Given the description of an element on the screen output the (x, y) to click on. 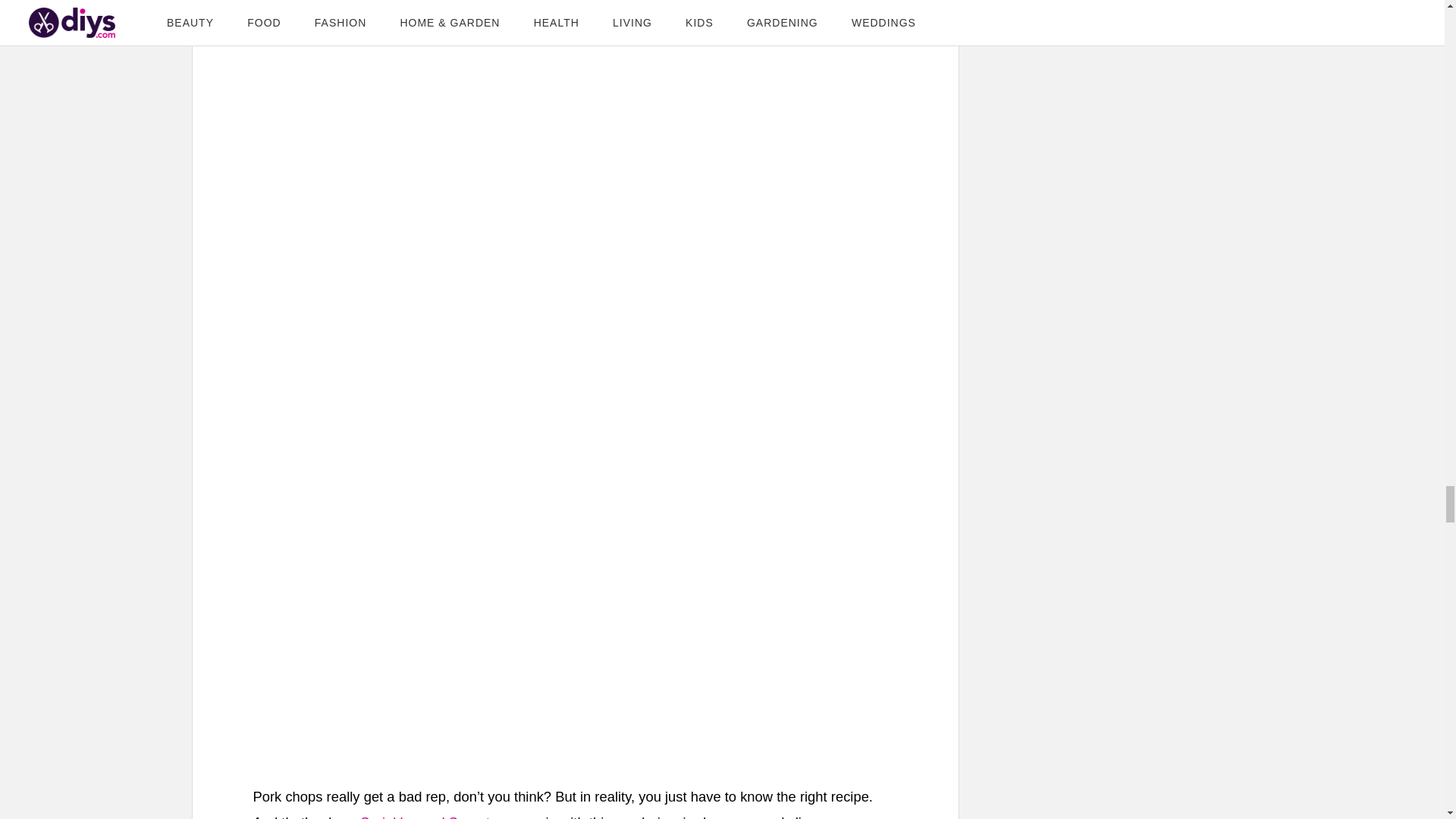
Sprinkles and Sprouts (427, 816)
